Given the description of an element on the screen output the (x, y) to click on. 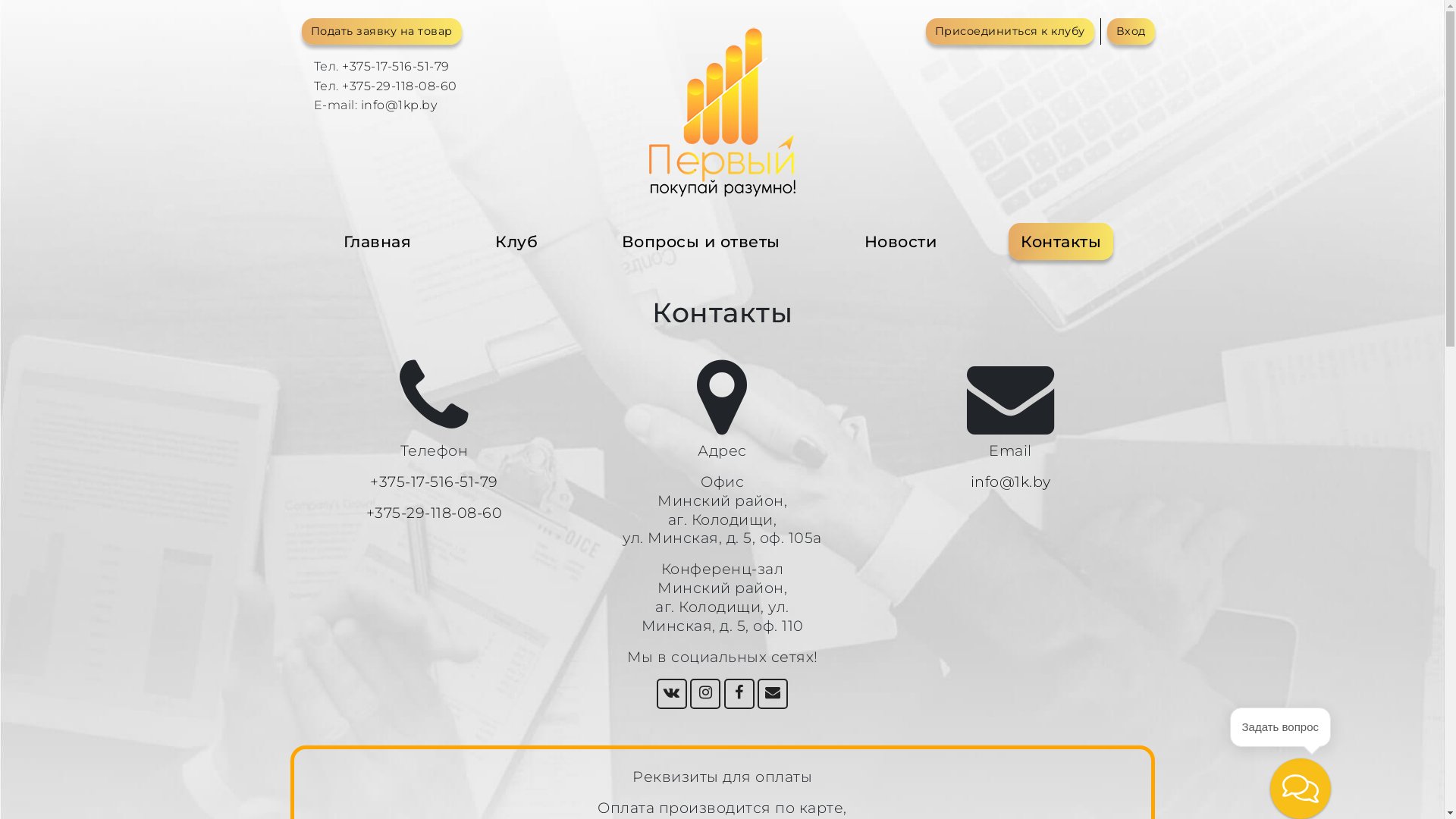
+375-29-118-08-60 Element type: text (434, 512)
info@1k.by Element type: text (1010, 481)
info@1kp.by Element type: text (398, 104)
+375-29-118-08-60 Element type: text (399, 85)
+375-17-516-51-79 Element type: text (395, 66)
+375-17-516-51-79 Element type: text (434, 481)
